Given the description of an element on the screen output the (x, y) to click on. 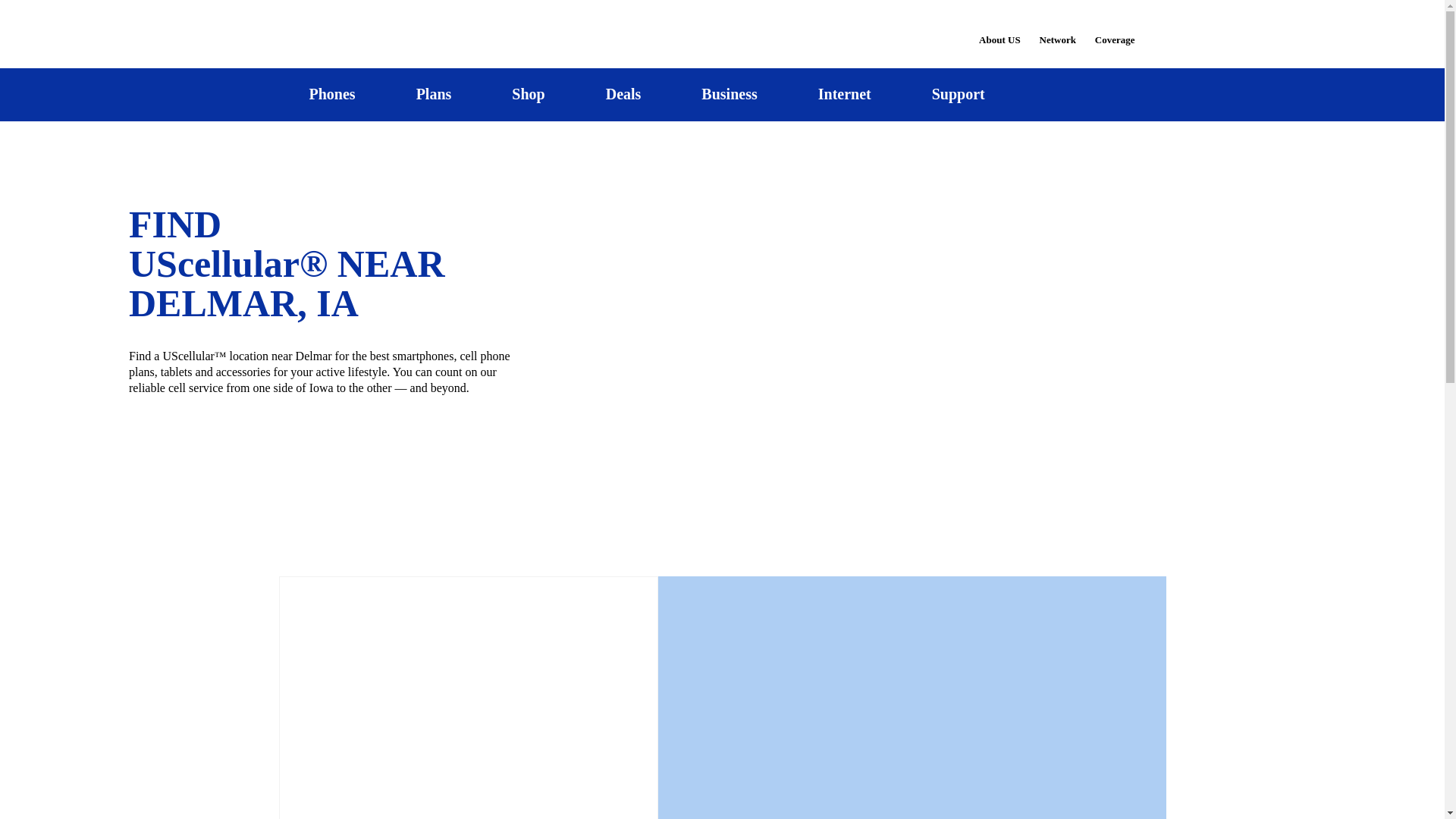
Business (729, 94)
About US (999, 30)
Phones (332, 94)
Support (957, 94)
Shop (528, 94)
Plans (433, 94)
Internet (844, 94)
Deals (623, 94)
Network (1057, 30)
Coverage (1115, 29)
